Given the description of an element on the screen output the (x, y) to click on. 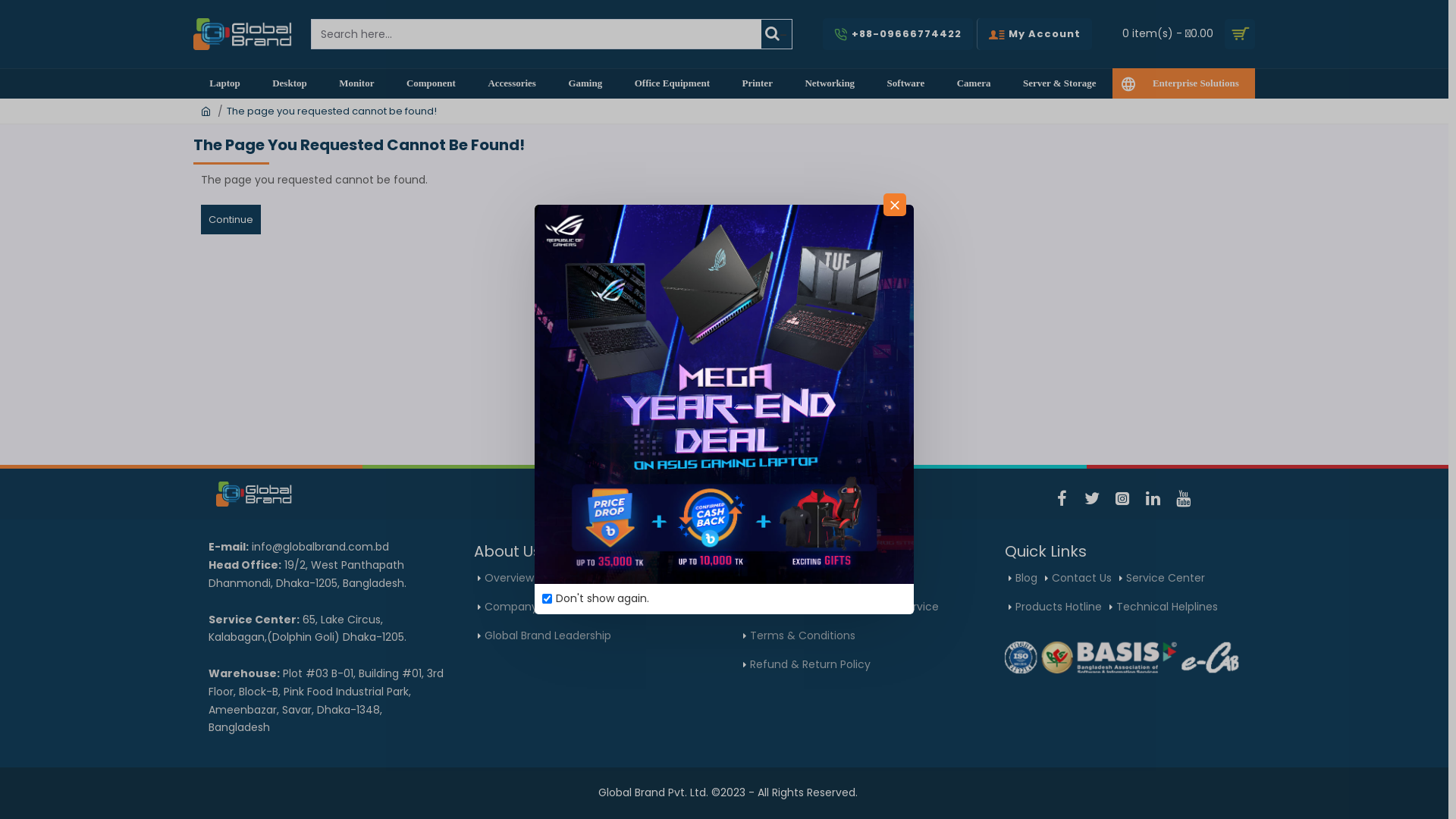
Warranty policy Element type: text (788, 607)
Gaming Element type: text (585, 83)
+88-01729200300 Element type: text (792, 501)
Continue Element type: text (230, 219)
Our Branches Element type: text (653, 578)
Our Brands Element type: text (573, 578)
Company Policy Element type: text (524, 607)
Desktop Element type: text (289, 83)
Contact Us Element type: text (1077, 578)
Enterprise Solutions Element type: text (1183, 83)
Global Brand Leadership Element type: text (544, 635)
Terms & Conditions Element type: text (799, 635)
Software Element type: text (905, 83)
Global Brand Private Limited Element type: hover (242, 34)
Management Profile Element type: text (635, 607)
Laptop Element type: text (224, 83)
+88-09666774422 Element type: text (897, 34)
Networking Element type: text (829, 83)
+88-09666774422 Element type: text (658, 501)
The page you requested cannot be found! Element type: text (331, 111)
Server & Storage Element type: text (1059, 83)
Accessories Element type: text (511, 83)
Overview Element type: text (505, 578)
Technical Helplines Element type: text (1163, 607)
Products Hotline Element type: text (1054, 607)
Camera Element type: text (973, 83)
Office Equipment Element type: text (671, 83)
Privacy Policy Element type: text (866, 578)
Blog Element type: text (1022, 578)
- Element type: text (776, 33)
Service Center Element type: text (1161, 578)
Refund & Return Policy Element type: text (806, 664)
Component Element type: text (431, 83)
Printer Element type: text (756, 83)
My Account Element type: text (1034, 34)
Monitor Element type: text (356, 83)
Warranty Service Element type: text (889, 607)
Cookie Policy Element type: text (781, 578)
Search Element type: text (329, 27)
